Given the description of an element on the screen output the (x, y) to click on. 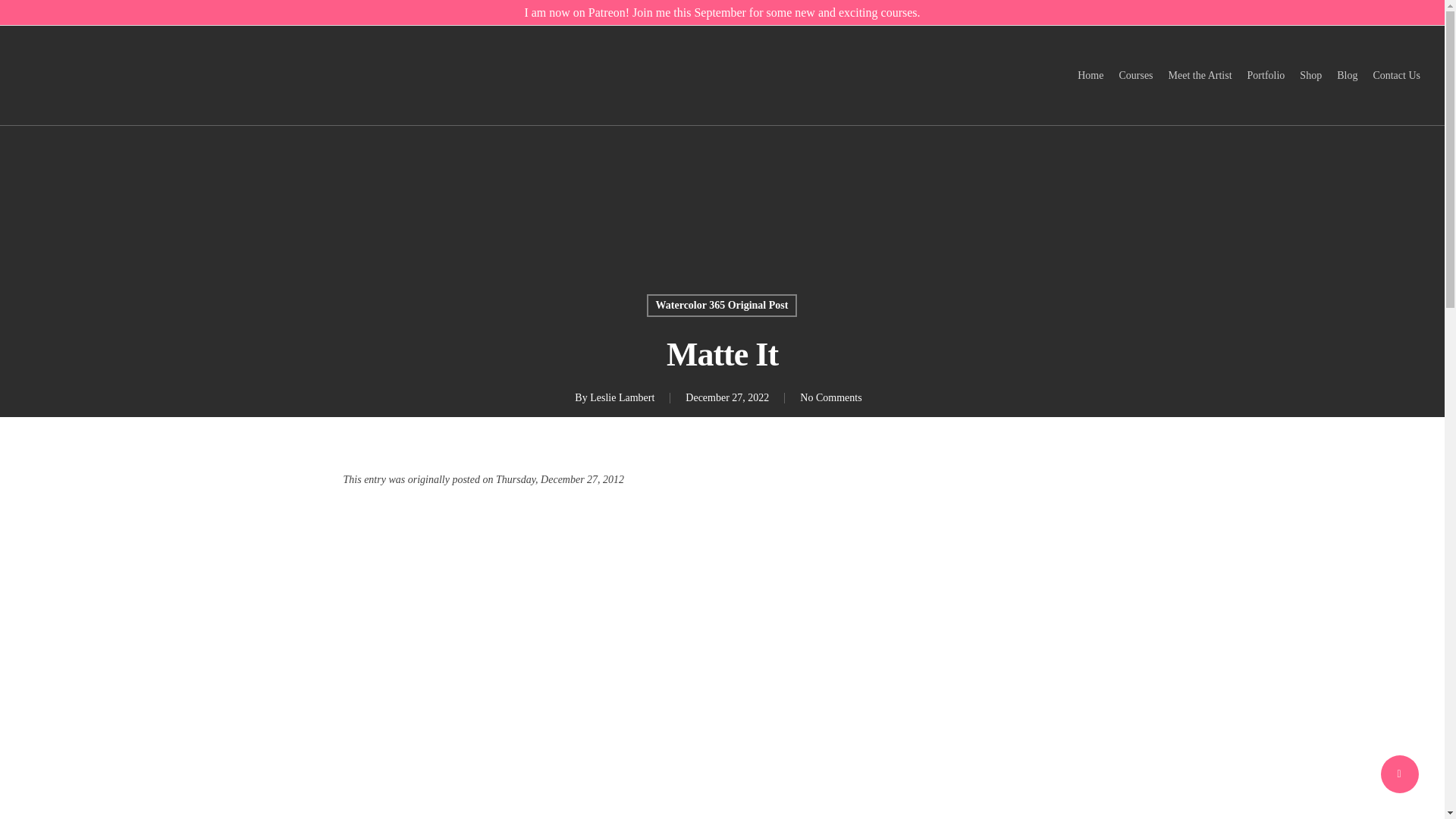
Posts by Leslie Lambert (621, 397)
No Comments (830, 397)
Home (1090, 75)
Portfolio (1266, 75)
Watercolor 365 Original Post (721, 305)
Meet the Artist (1200, 75)
Courses (1135, 75)
Blog (1346, 75)
Leslie Lambert (621, 397)
Shop (1311, 75)
Contact Us (1397, 75)
